Given the description of an element on the screen output the (x, y) to click on. 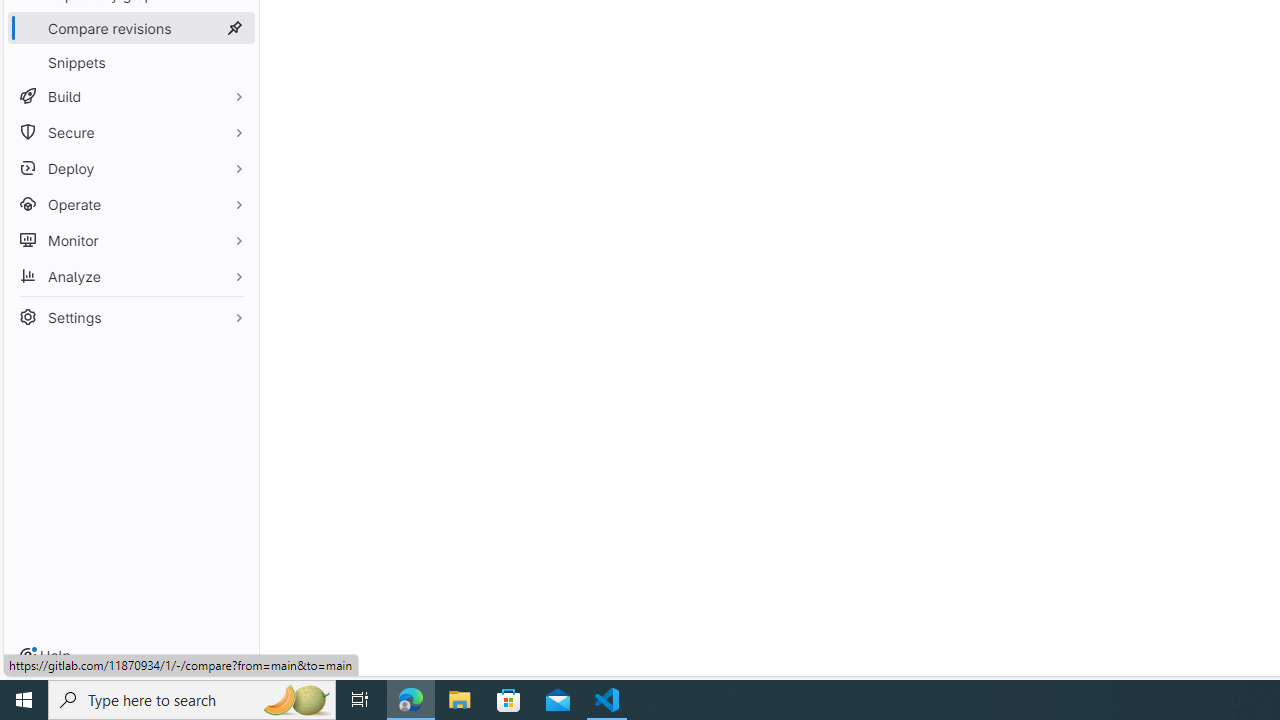
Analyze (130, 276)
Snippets (130, 62)
Build (130, 96)
Snippets (130, 62)
Pin Snippets (234, 61)
Operate (130, 204)
Deploy (130, 168)
Pin Compare revisions (234, 28)
Monitor (130, 240)
Compare revisions (130, 28)
Secure (130, 132)
Compare revisions (130, 28)
Analyze (130, 276)
Deploy (130, 168)
